Given the description of an element on the screen output the (x, y) to click on. 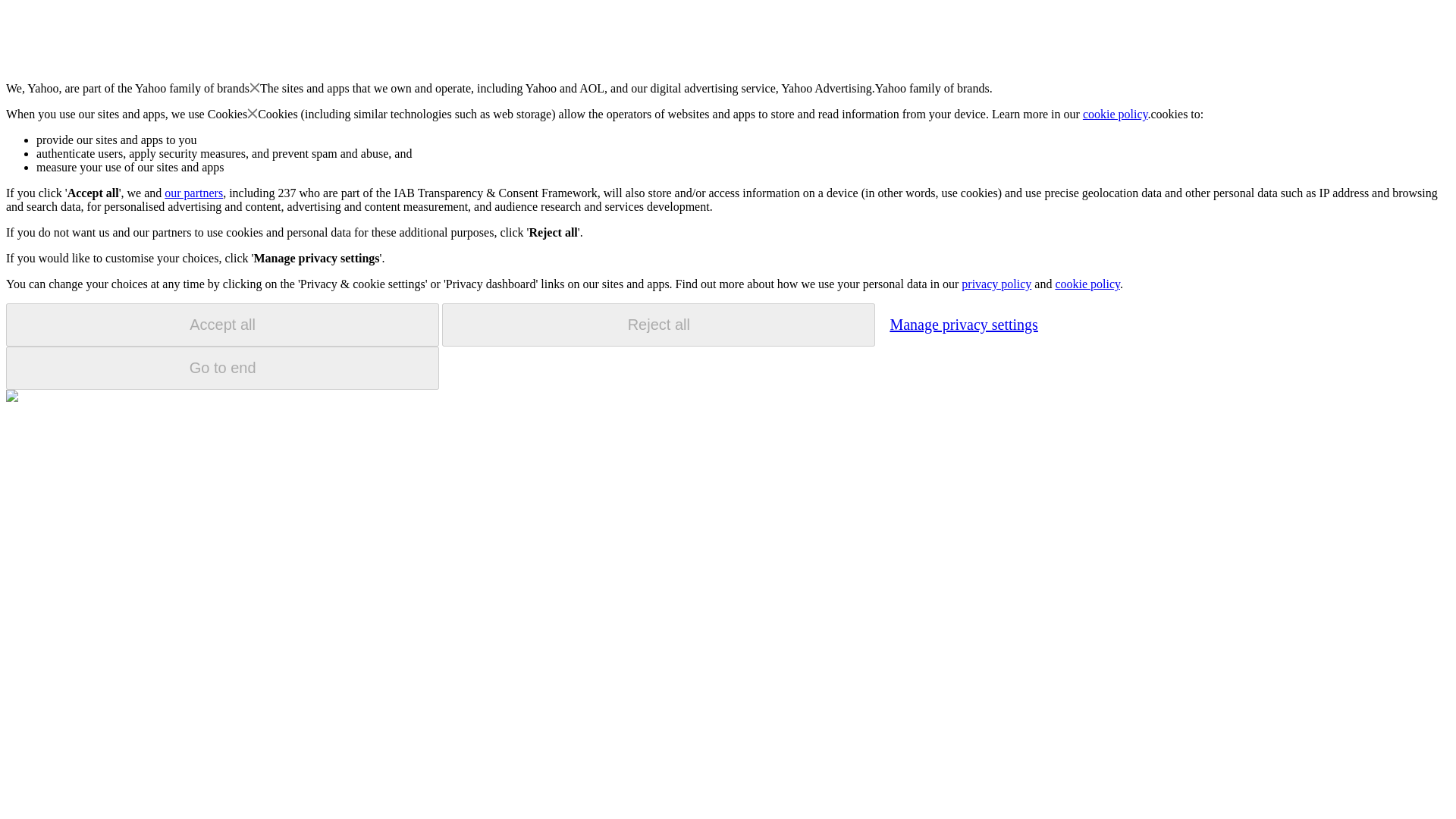
Go to end (222, 367)
cookie policy (1115, 113)
Reject all (658, 324)
Accept all (222, 324)
cookie policy (1086, 283)
privacy policy (995, 283)
Manage privacy settings (963, 323)
our partners (193, 192)
